Given the description of an element on the screen output the (x, y) to click on. 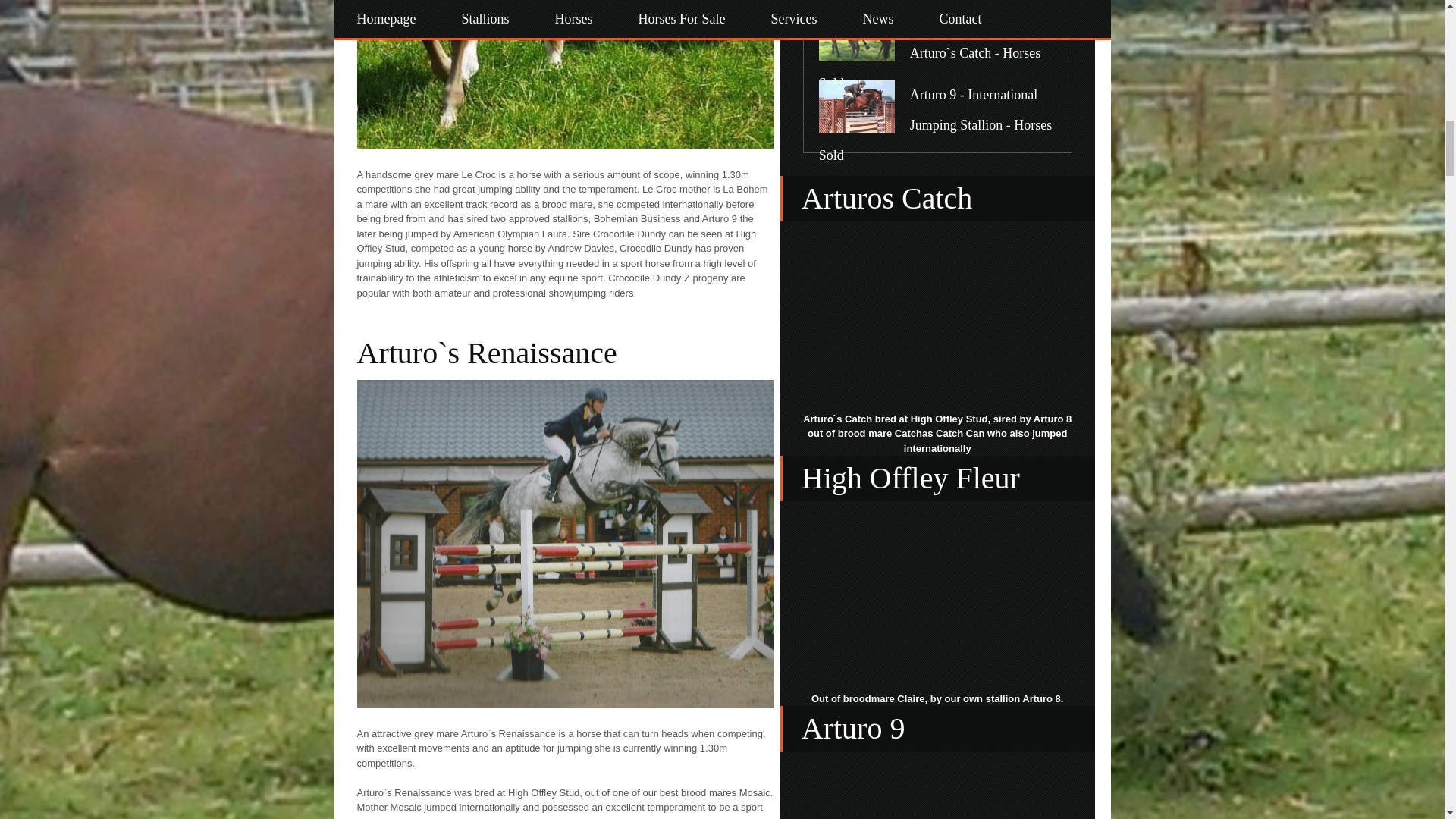
Arturo 9 - International Jumping Stallion - Horses Sold (935, 124)
